Given the description of an element on the screen output the (x, y) to click on. 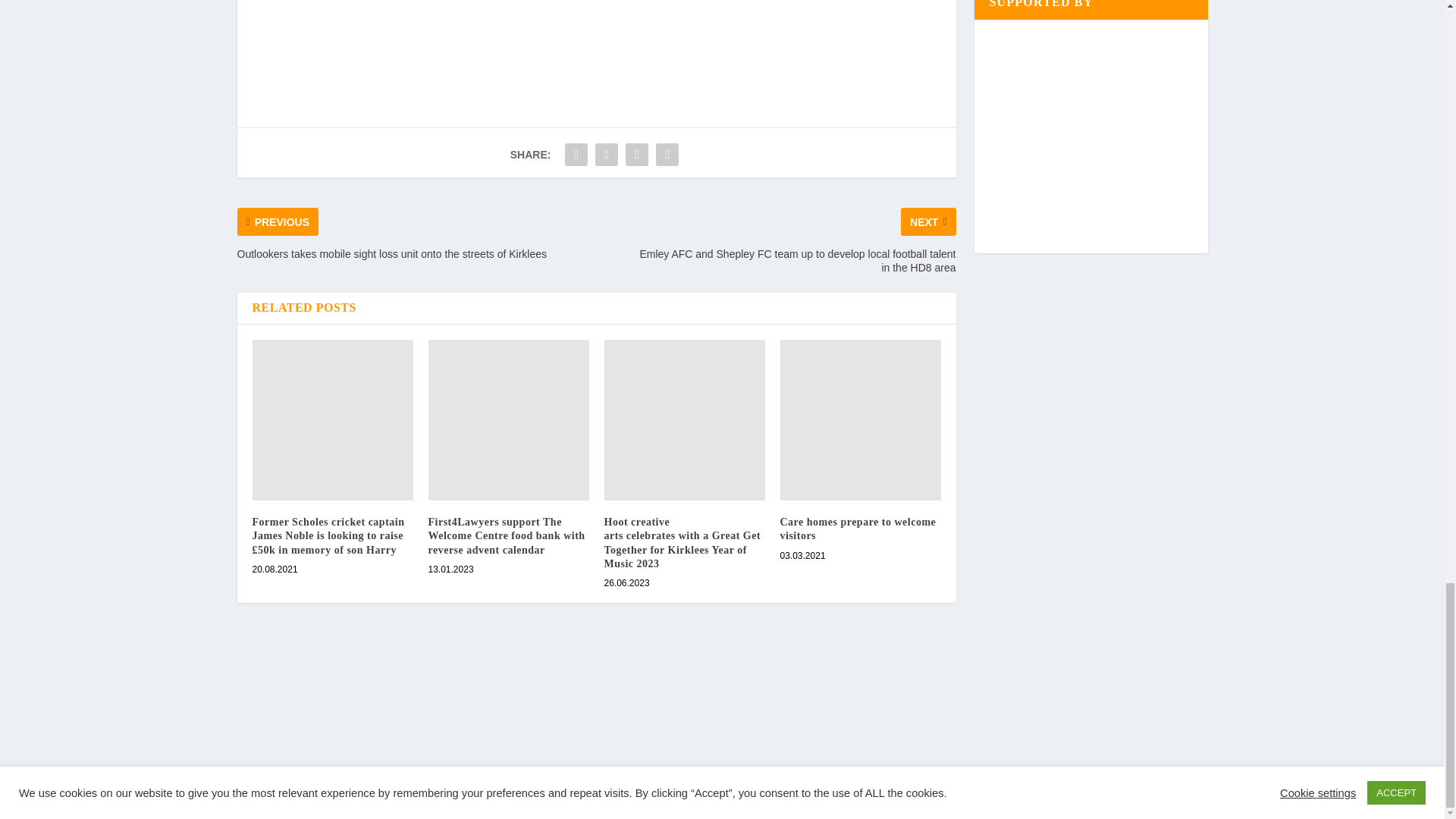
Care homes prepare to welcome visitors (859, 419)
